Given the description of an element on the screen output the (x, y) to click on. 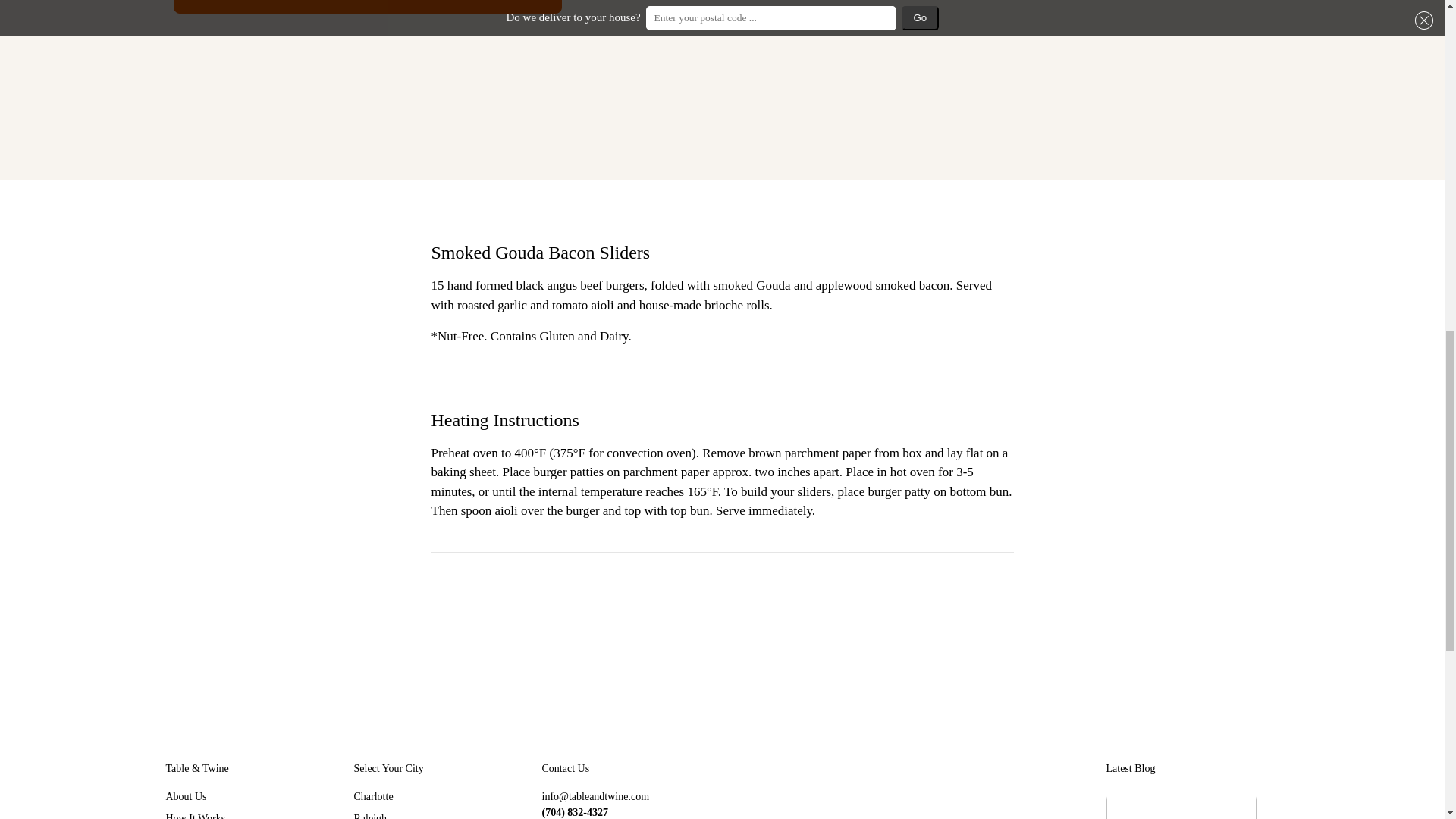
About Us (185, 796)
How It Works (195, 816)
Add to basket (366, 6)
